Given the description of an element on the screen output the (x, y) to click on. 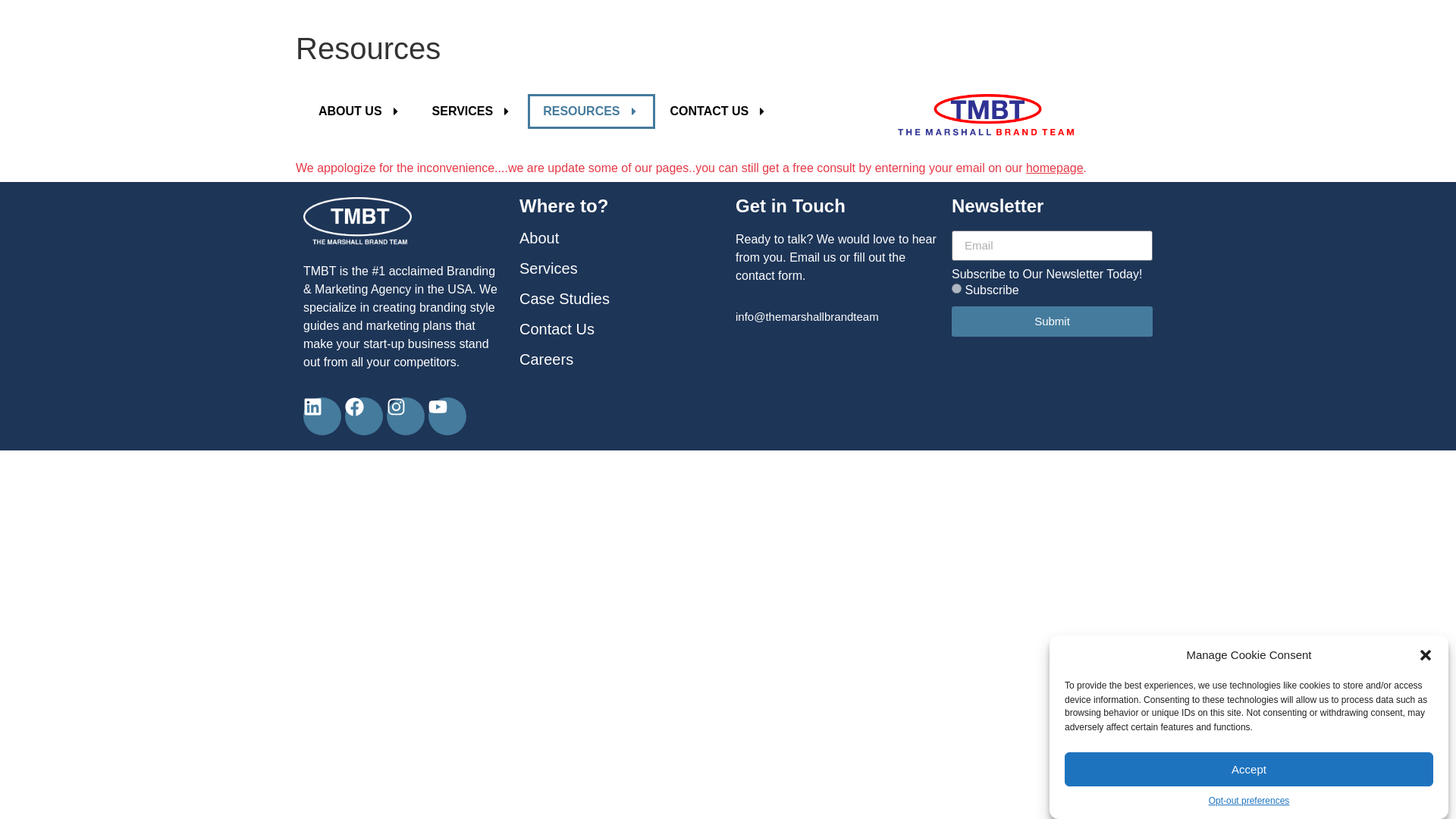
SERVICES (472, 111)
CONTACT US (719, 111)
ABOUT US (359, 111)
Subscribe (956, 288)
RESOURCES (590, 111)
